Given the description of an element on the screen output the (x, y) to click on. 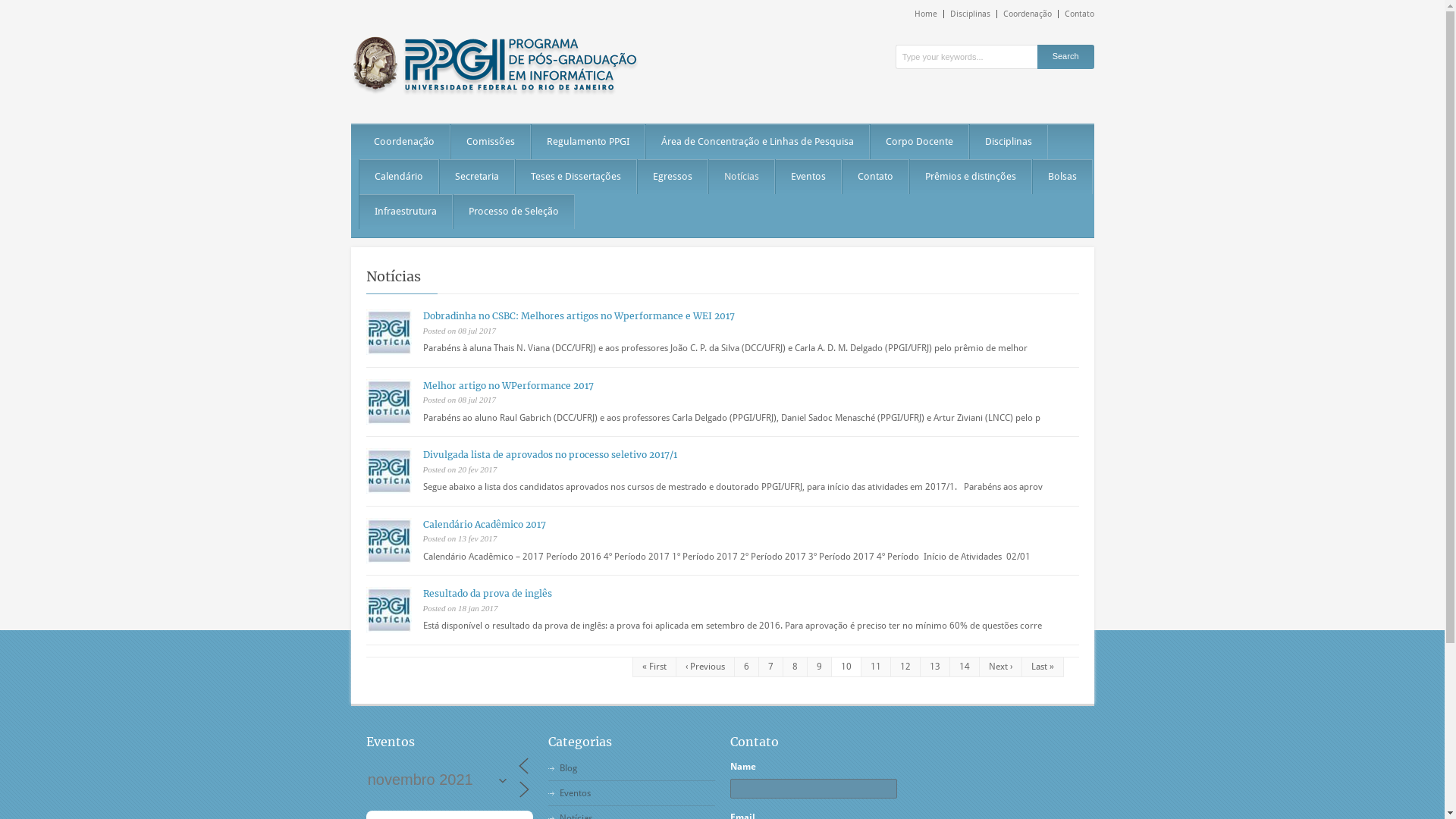
14 Element type: text (964, 666)
Bolsas Element type: text (1061, 176)
13 Element type: text (933, 666)
Regulamento PPGI Element type: text (587, 141)
6 Element type: text (746, 666)
Eventos Element type: text (808, 176)
Secretaria Element type: text (476, 176)
Blog Element type: text (568, 767)
Infraestrutura Element type: text (404, 211)
Search Element type: text (1065, 56)
11 Element type: text (874, 666)
9 Element type: text (818, 666)
Contato Element type: text (1076, 13)
8 Element type: text (794, 666)
Egressos Element type: text (672, 176)
Eventos Element type: text (574, 792)
Melhor artigo no WPerformance 2017 Element type: text (508, 384)
12 Element type: text (904, 666)
7 Element type: text (770, 666)
Disciplinas Element type: text (1008, 141)
Home Element type: text (929, 13)
Corpo Docente Element type: text (918, 141)
Disciplinas Element type: text (969, 13)
Divulgada lista de aprovados no processo seletivo 2017/1 Element type: text (550, 454)
Contato Element type: text (875, 176)
